Given the description of an element on the screen output the (x, y) to click on. 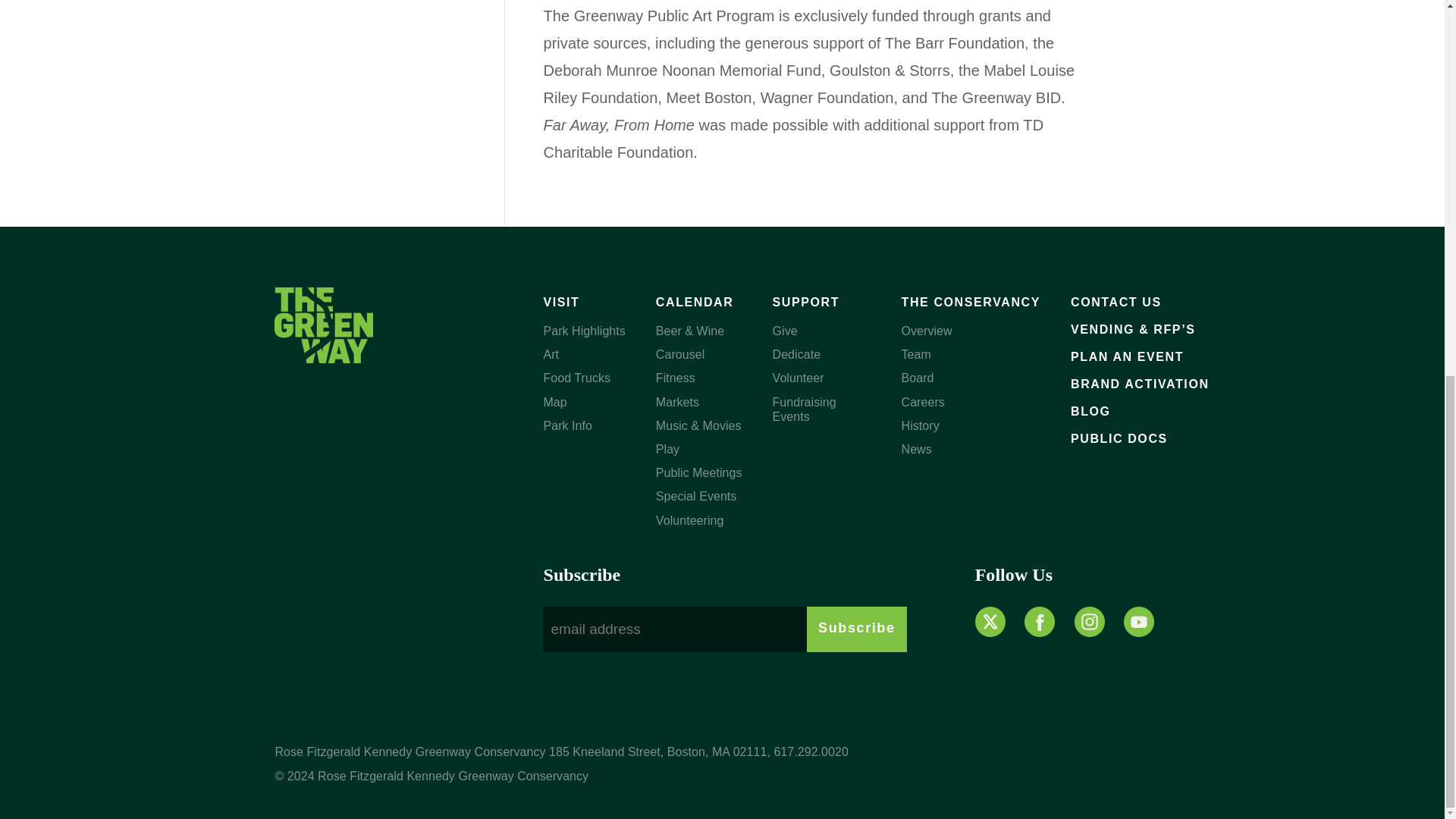
Instagram (1089, 619)
Park Highlights (583, 330)
Subscribe (855, 628)
Youtube (1139, 619)
Park Info (567, 425)
Food Trucks (576, 377)
Twitter (992, 619)
CALENDAR (694, 301)
Facebook (1039, 619)
Map (554, 401)
VISIT (561, 301)
Art (551, 354)
